Given the description of an element on the screen output the (x, y) to click on. 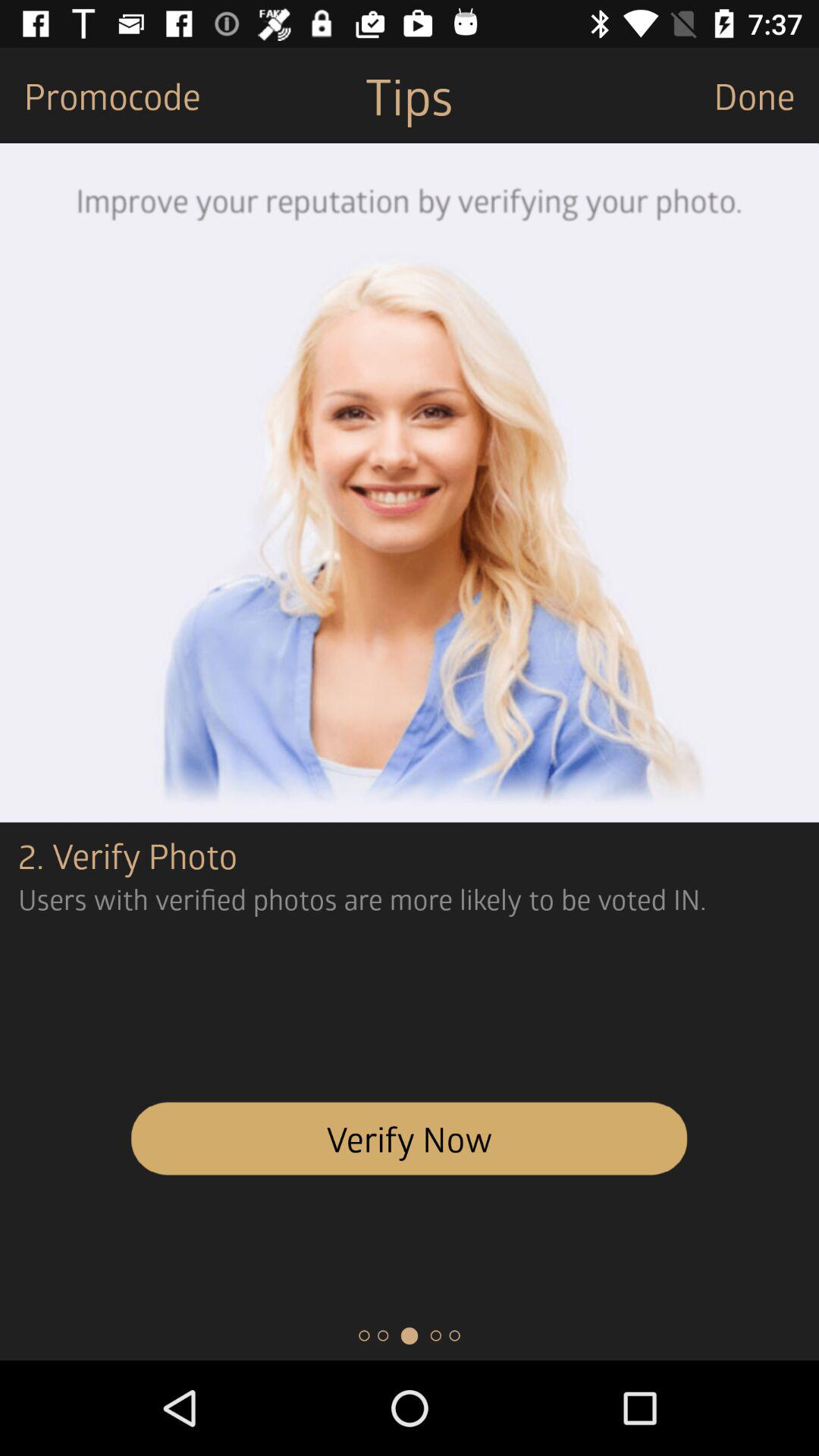
jump to the promocode item (100, 95)
